Given the description of an element on the screen output the (x, y) to click on. 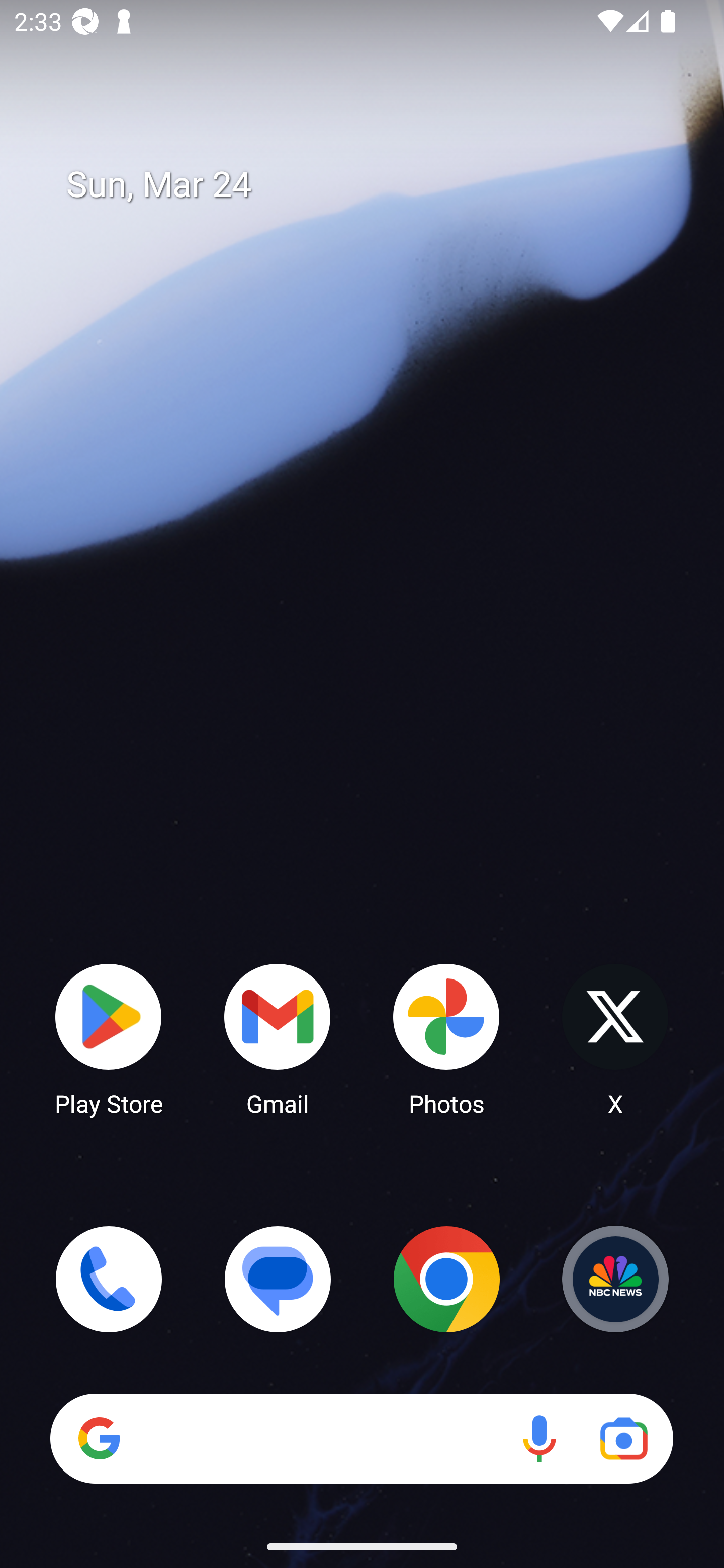
Sun, Mar 24 (375, 184)
Play Store (108, 1038)
Gmail (277, 1038)
Photos (445, 1038)
X (615, 1038)
Phone (108, 1279)
Messages (277, 1279)
Chrome (446, 1279)
NBC NEWS Predicted app: NBC NEWS (615, 1279)
Voice search (539, 1438)
Google Lens (623, 1438)
